Given the description of an element on the screen output the (x, y) to click on. 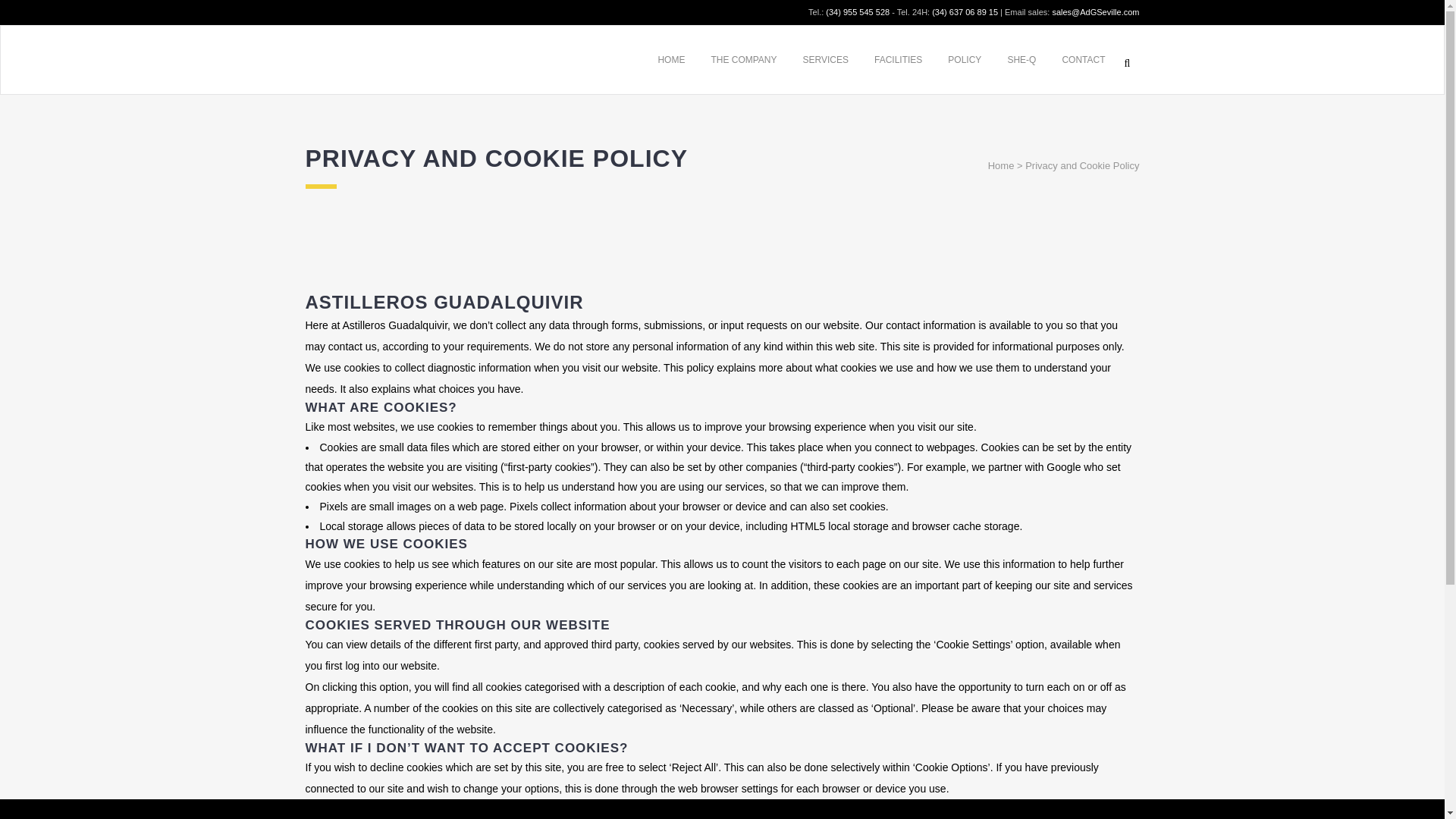
FACILITIES (897, 59)
CONTACT (1083, 59)
SERVICES (825, 59)
THE COMPANY (743, 59)
Home (1001, 165)
